Given the description of an element on the screen output the (x, y) to click on. 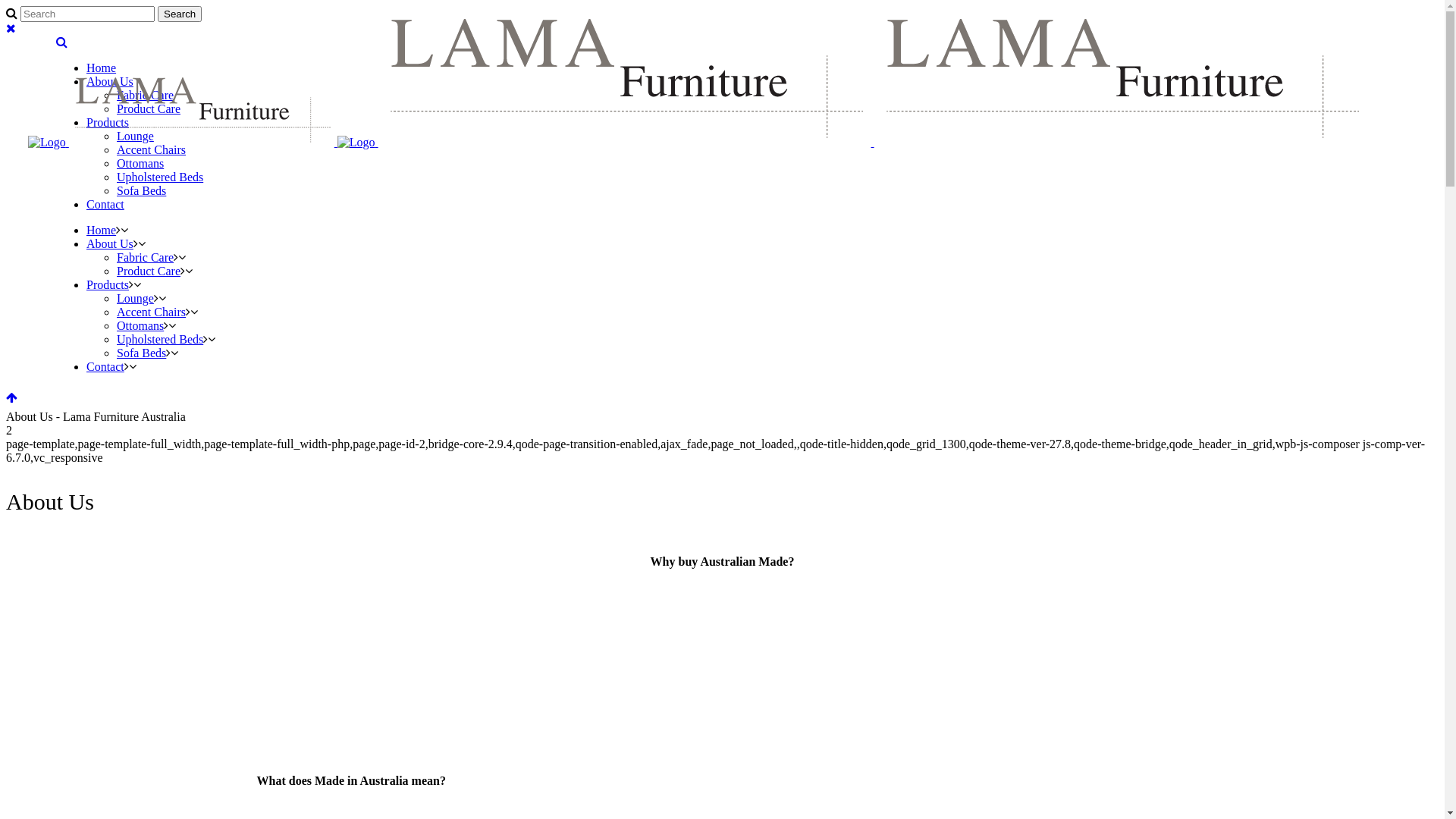
Contact Element type: text (105, 203)
Ottomans Element type: text (139, 325)
About Us Element type: text (109, 81)
Lounge Element type: text (134, 135)
Ottomans Element type: text (139, 162)
Fabric Care Element type: text (144, 257)
Home Element type: text (101, 229)
Upholstered Beds Element type: text (159, 338)
Upholstered Beds Element type: text (159, 176)
Home Element type: text (101, 67)
Product Care Element type: text (148, 270)
Products Element type: text (107, 284)
Accent Chairs Element type: text (150, 149)
Contact Element type: text (105, 366)
Product Care Element type: text (148, 108)
Lounge Element type: text (134, 297)
Search Element type: text (179, 13)
Accent Chairs Element type: text (150, 311)
Sofa Beds Element type: text (141, 352)
About Us Element type: text (109, 243)
Sofa Beds Element type: text (141, 190)
Fabric Care Element type: text (144, 94)
Products Element type: text (107, 122)
